Given the description of an element on the screen output the (x, y) to click on. 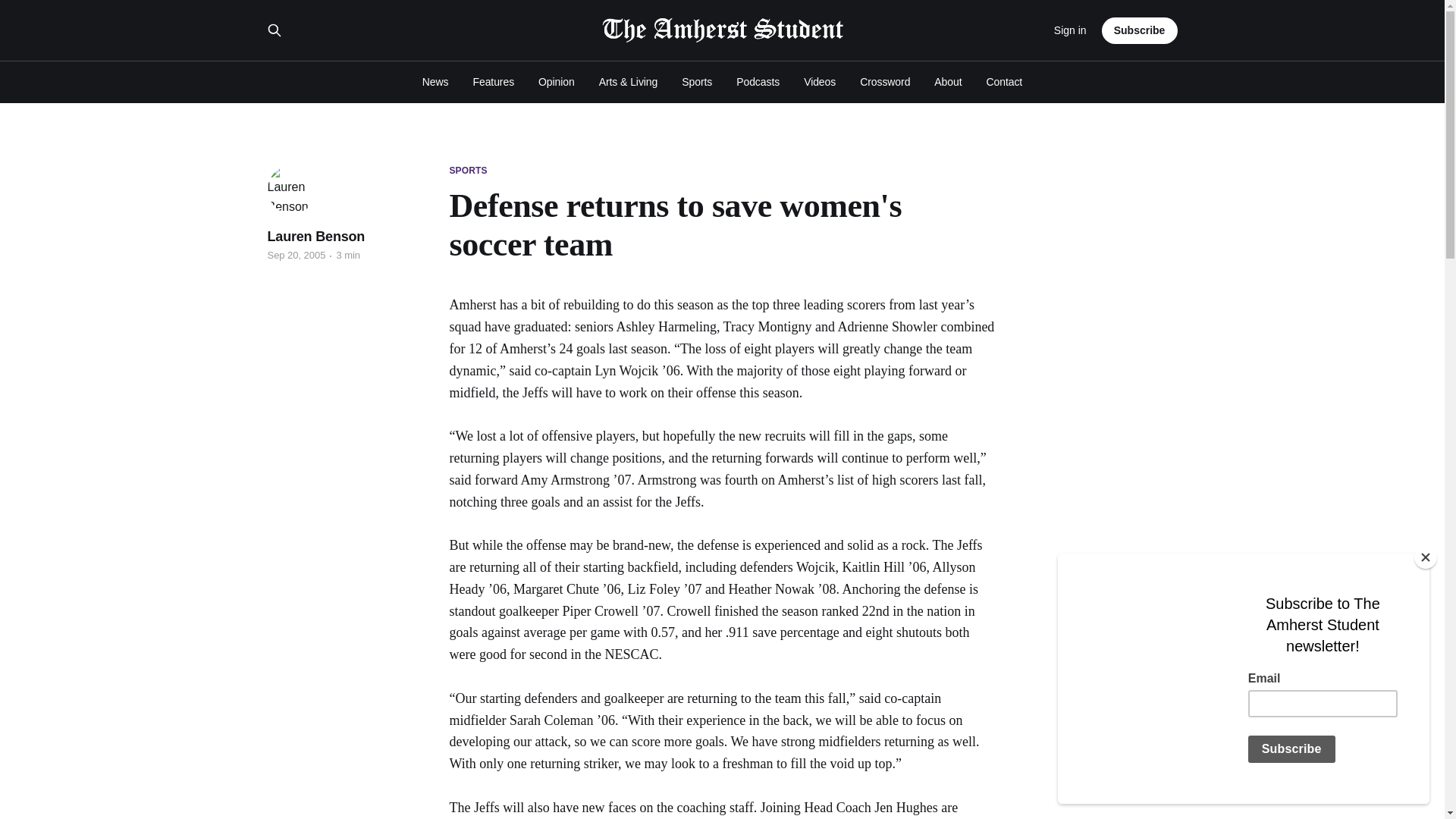
Opinion (556, 81)
Sports (696, 81)
SPORTS (467, 170)
Podcasts (757, 81)
Videos (819, 81)
Subscribe (1139, 29)
Lauren Benson (315, 236)
Contact (1005, 81)
Features (492, 81)
About (947, 81)
News (435, 81)
Crossword (885, 81)
Sign in (1070, 30)
